Given the description of an element on the screen output the (x, y) to click on. 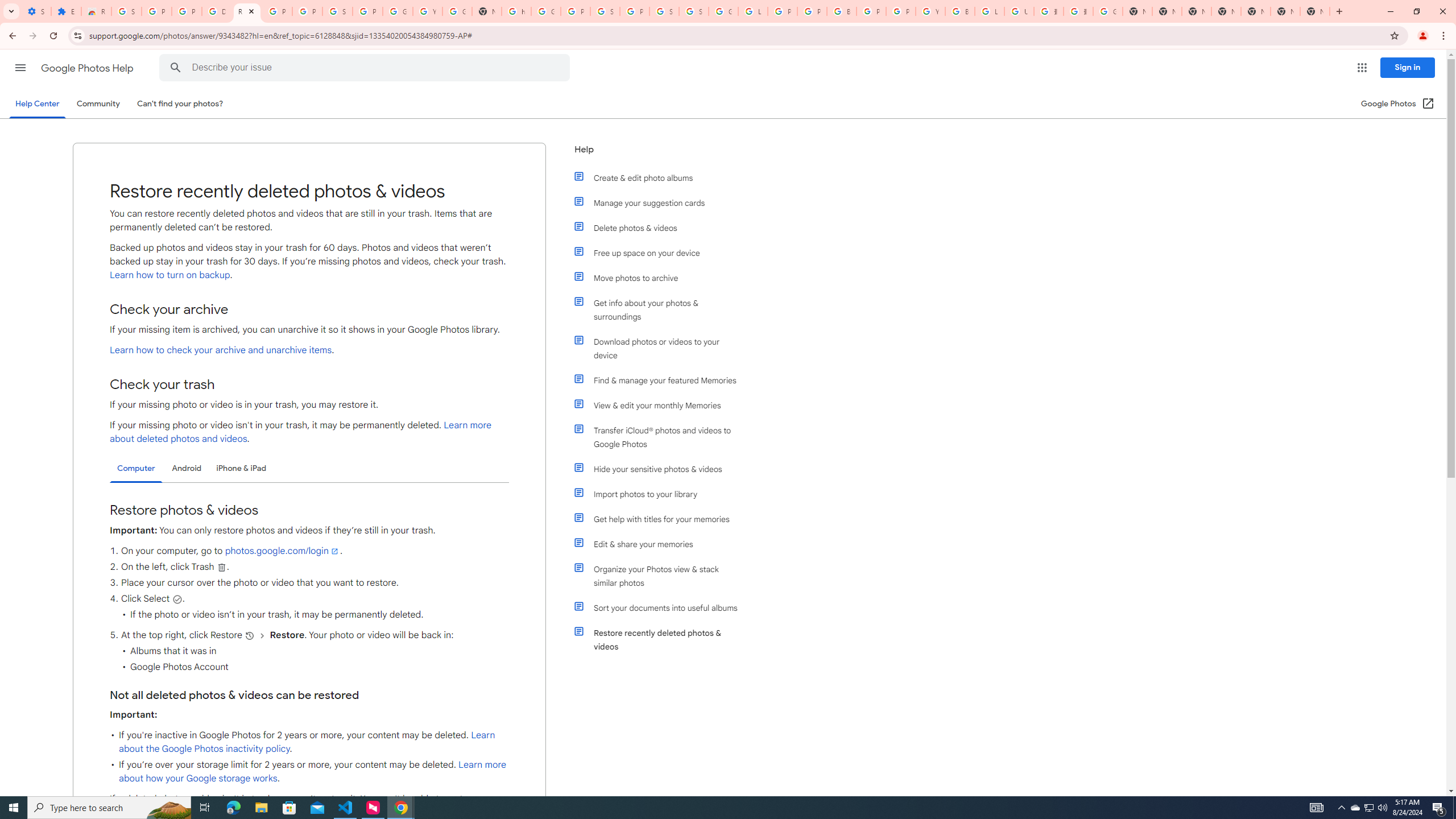
New Tab (1226, 11)
Learn how to turn on backup (169, 274)
Select (176, 598)
Move photos to archive (661, 277)
Google Images (1107, 11)
Delete (221, 566)
